Given the description of an element on the screen output the (x, y) to click on. 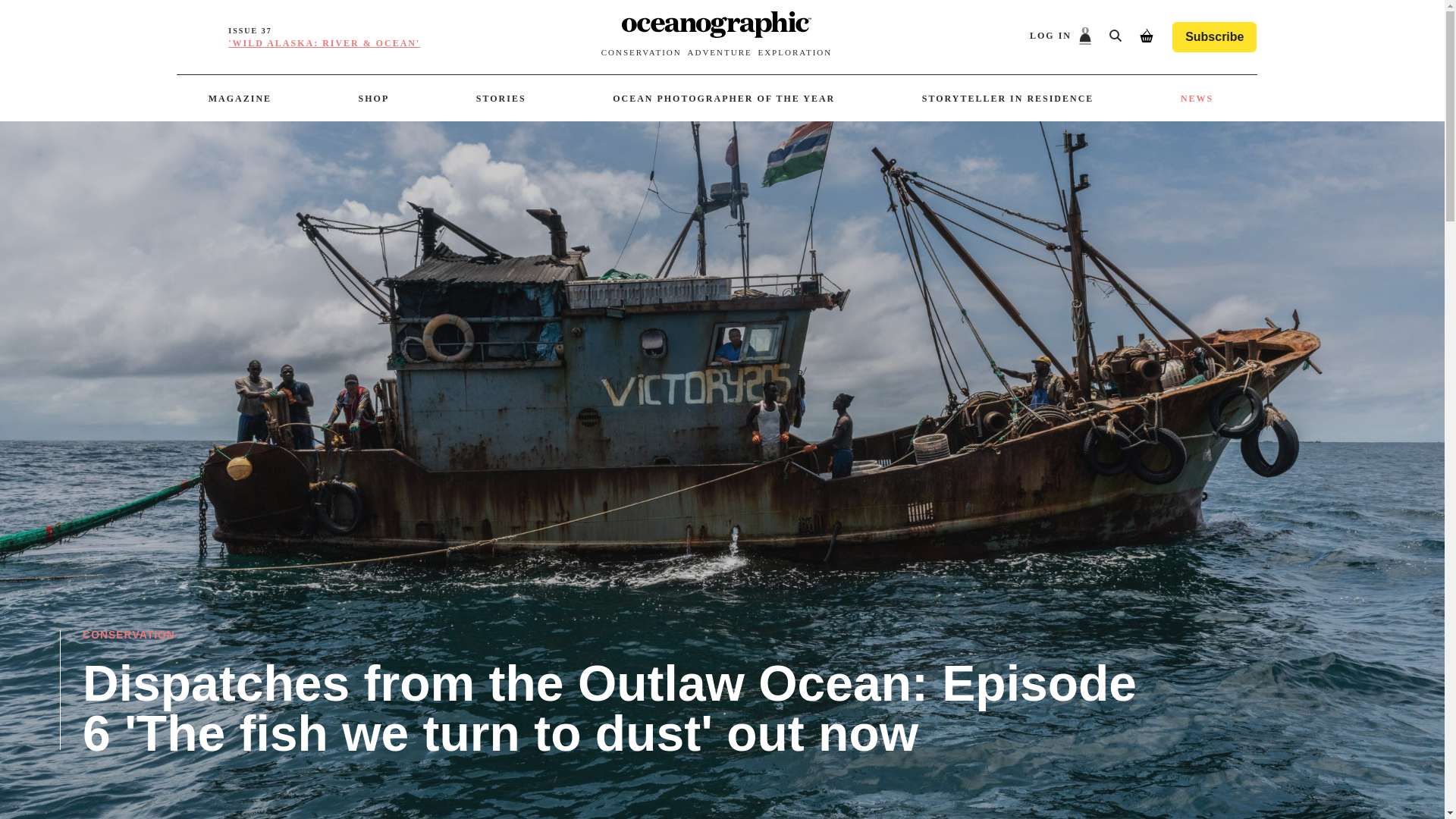
ISSUE 37 (249, 31)
STORYTELLER IN RESIDENCE (1007, 98)
ADVENTURE (719, 52)
MAGAZINE (239, 98)
NEWS (1196, 98)
STORIES (500, 98)
Oceanographic - Home (715, 26)
EXPLORATION (794, 52)
LOG IN (1059, 36)
Subscribe (1214, 37)
